Given the description of an element on the screen output the (x, y) to click on. 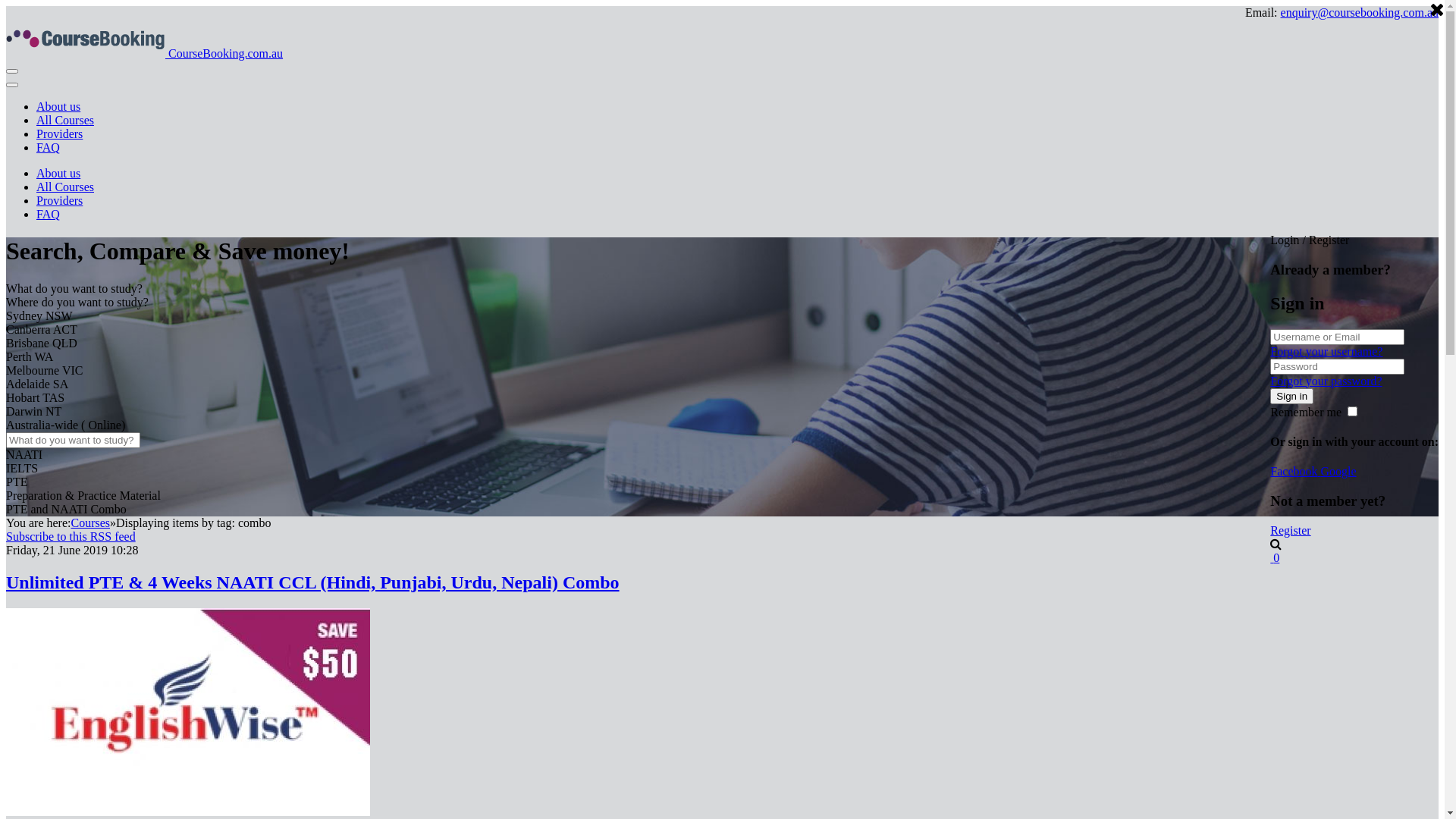
CourseBooking.com.au Element type: text (144, 53)
Sign in Element type: text (1291, 396)
FAQ Element type: text (47, 213)
FAQ Element type: text (47, 147)
Login / Register Element type: text (1309, 239)
Forgot your password? Element type: text (1325, 380)
Register Element type: text (1290, 529)
Subscribe to this RSS feed Element type: text (70, 536)
Providers Element type: text (59, 133)
Facebook Element type: text (1295, 470)
0 Element type: text (1274, 556)
About us Element type: text (58, 172)
Providers Element type: text (59, 200)
Forgot your username? Element type: text (1326, 351)
enquiry@coursebooking.com.au Element type: text (1359, 12)
All Courses Element type: text (65, 119)
Google Element type: text (1338, 470)
About us Element type: text (58, 106)
All Courses Element type: text (65, 186)
Courses Element type: text (89, 522)
